Given the description of an element on the screen output the (x, y) to click on. 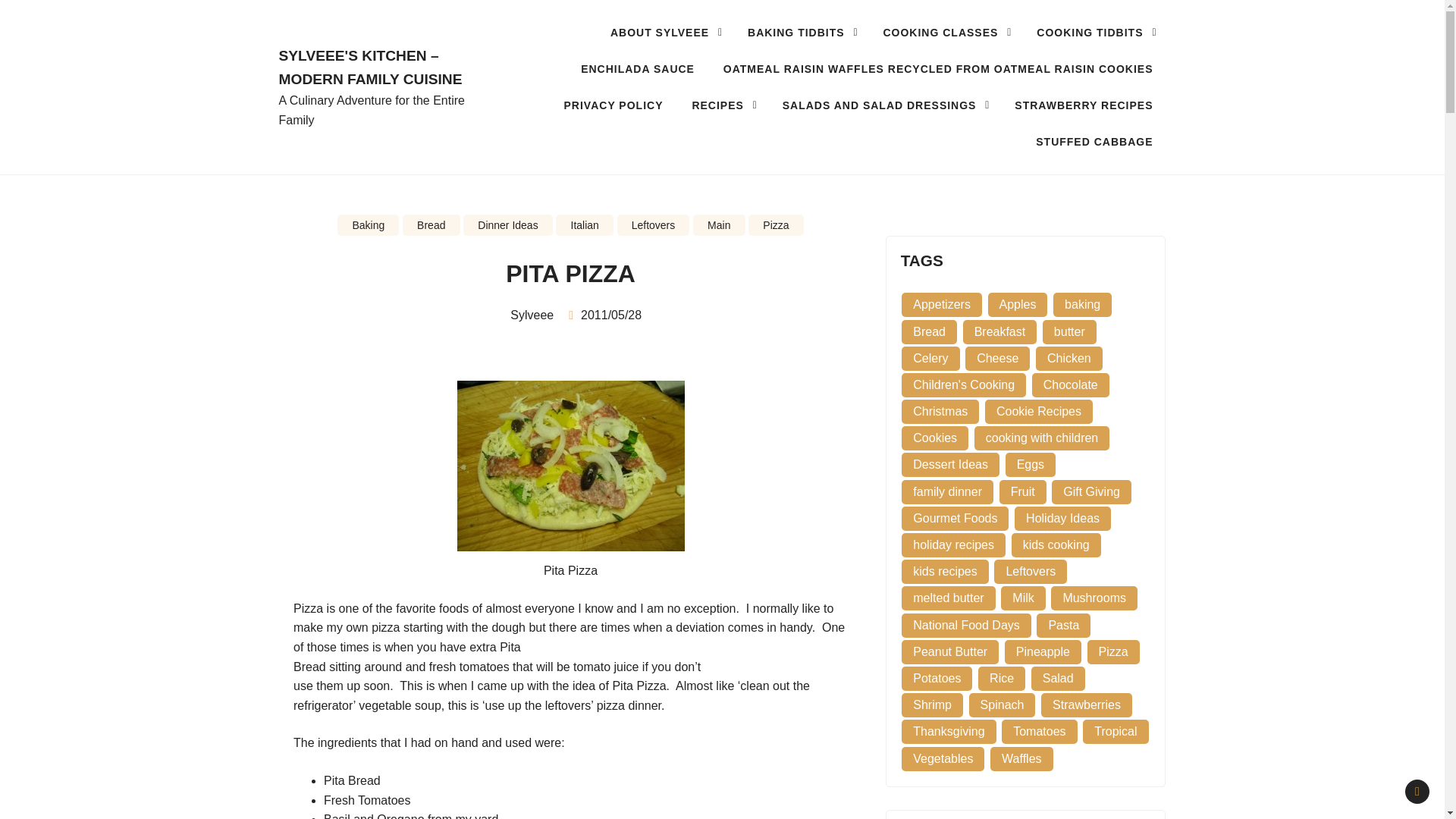
PRIVACY POLICY (614, 104)
ABOUT SYLVEEE (664, 32)
ENCHILADA SAUCE (637, 68)
COOKING CLASSES (944, 32)
BAKING TIDBITS (801, 32)
RECIPES (721, 104)
COOKING TIDBITS (1094, 32)
OATMEAL RAISIN WAFFLES RECYCLED FROM OATMEAL RAISIN COOKIES (938, 68)
